Given the description of an element on the screen output the (x, y) to click on. 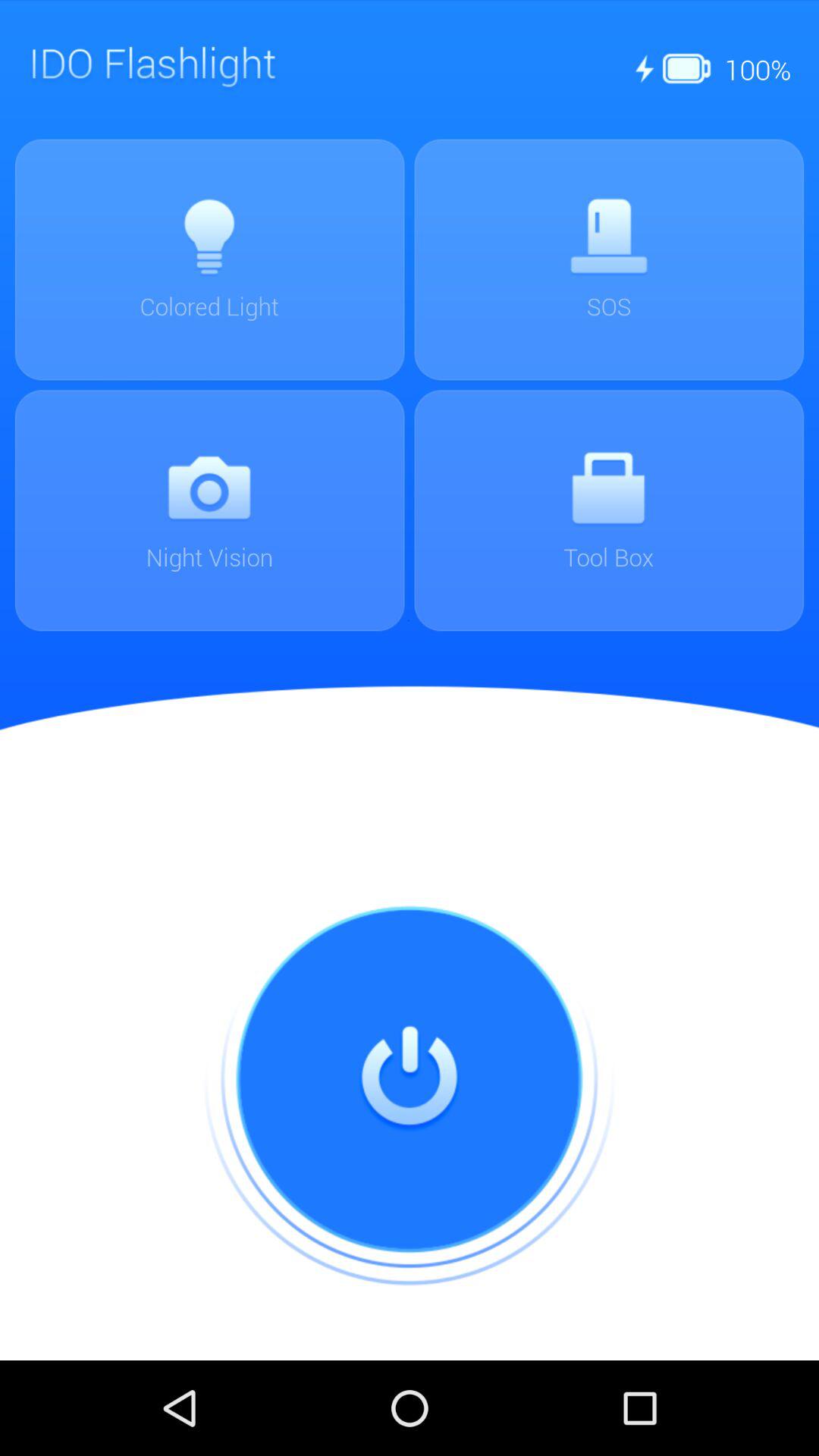
on (409, 1079)
